Given the description of an element on the screen output the (x, y) to click on. 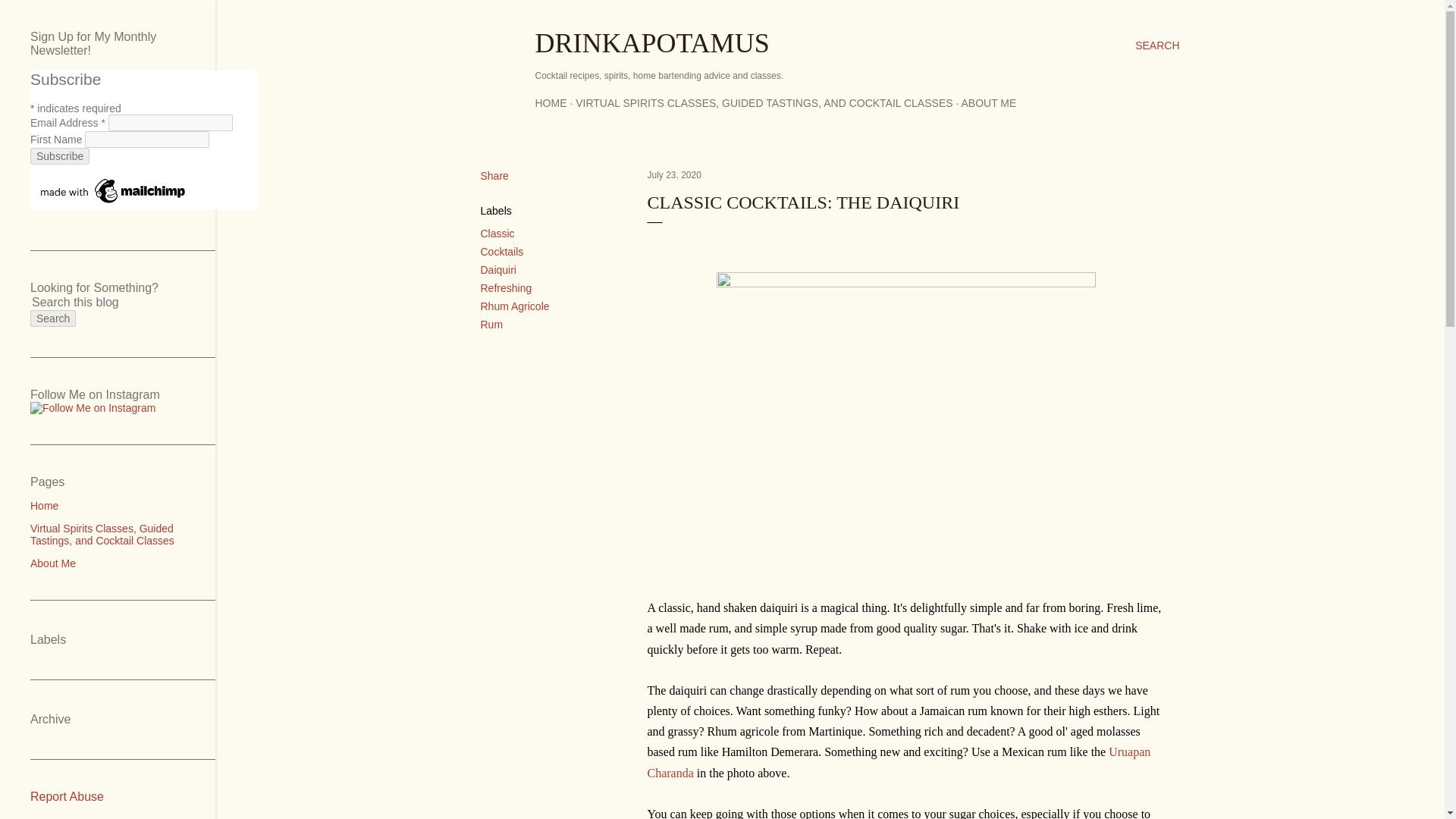
ABOUT ME (988, 102)
HOME (551, 102)
Rhum Agricole (515, 306)
DRINKAPOTAMUS (652, 42)
Search (52, 318)
Search (52, 318)
Classic (497, 233)
Refreshing (506, 287)
permanent link (674, 174)
Subscribe (59, 156)
Uruapan Charanda (899, 761)
Daiquiri (498, 269)
July 23, 2020 (674, 174)
Cocktails (502, 251)
